Given the description of an element on the screen output the (x, y) to click on. 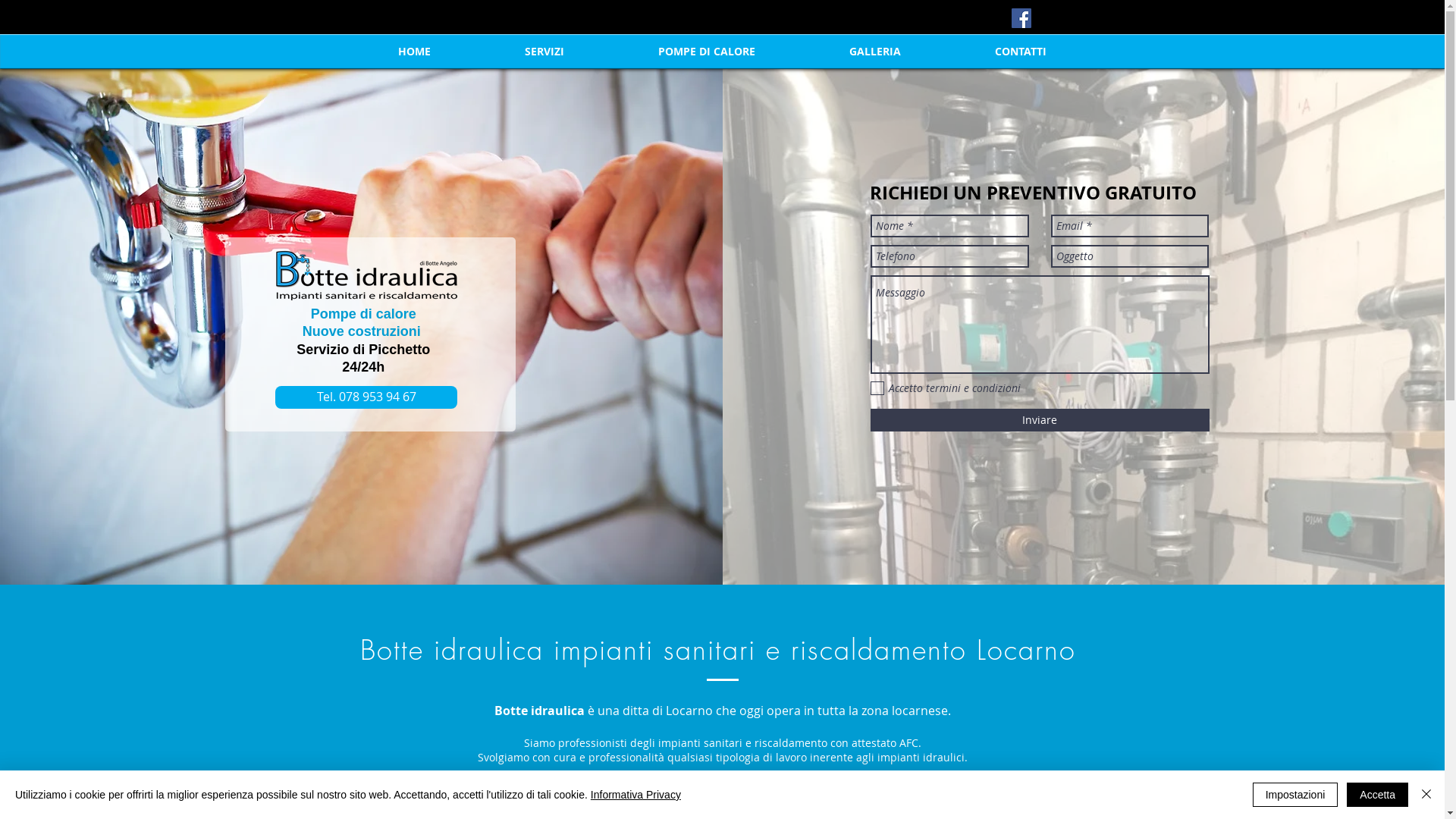
HOME Element type: text (413, 51)
SERVIZI Element type: text (543, 51)
Informativa Privacy Element type: text (635, 794)
POMPE DI CALORE Element type: text (705, 51)
Tel. 078 953 94 67 Element type: text (366, 396)
Inviare Element type: text (1039, 419)
Impostazioni Element type: text (1295, 794)
CONTATTI Element type: text (1019, 51)
GALLERIA Element type: text (874, 51)
Accetta Element type: text (1377, 794)
